Given the description of an element on the screen output the (x, y) to click on. 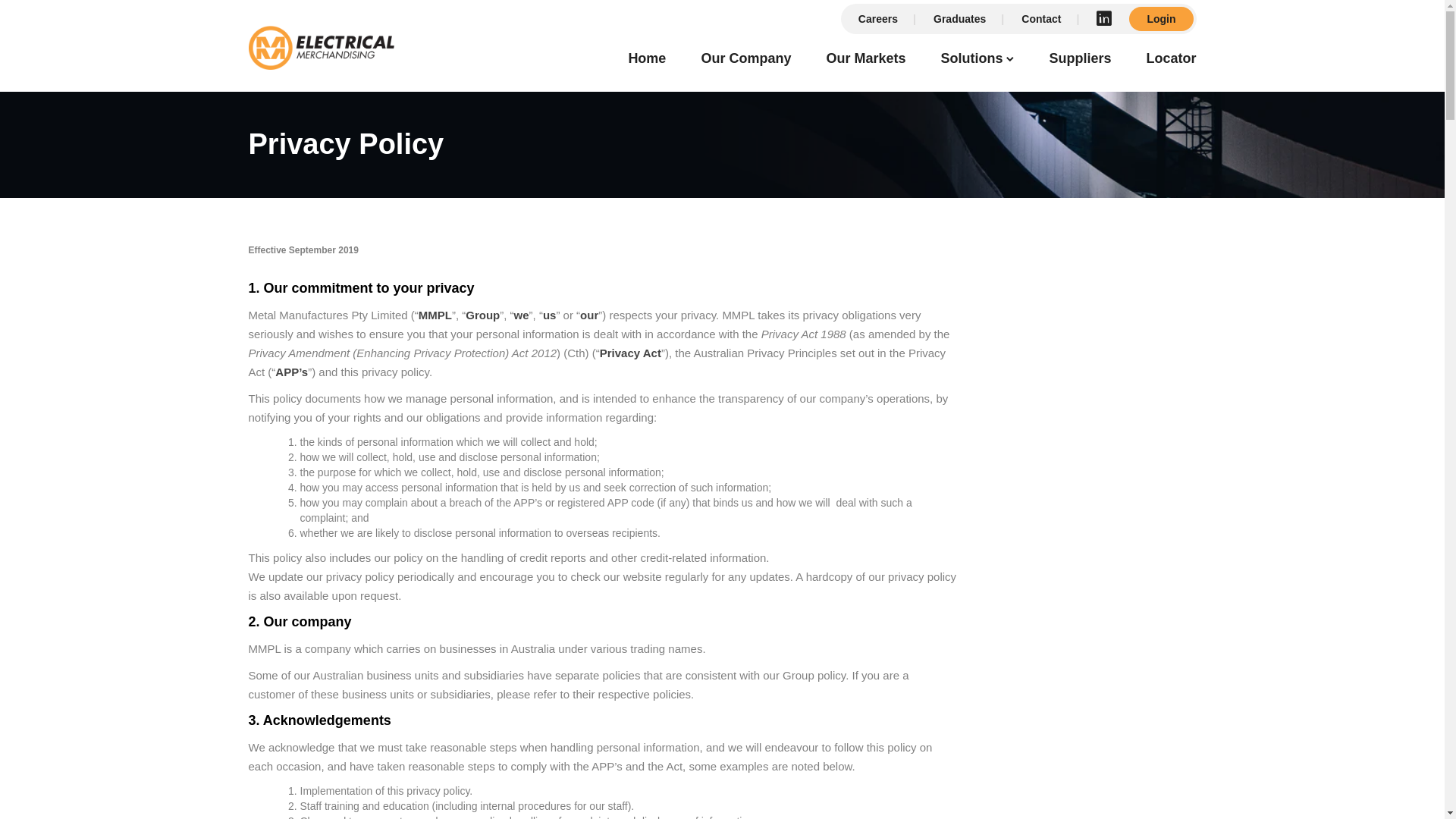
Solutions Element type: text (970, 60)
Graduates Element type: text (960, 18)
Suppliers Element type: text (1079, 60)
Locator Element type: text (1170, 60)
Careers Element type: text (878, 18)
Contact Element type: text (1041, 18)
Login Element type: text (1160, 18)
Home Element type: text (646, 60)
Our Company Element type: text (745, 60)
Our Markets Element type: text (865, 60)
